Given the description of an element on the screen output the (x, y) to click on. 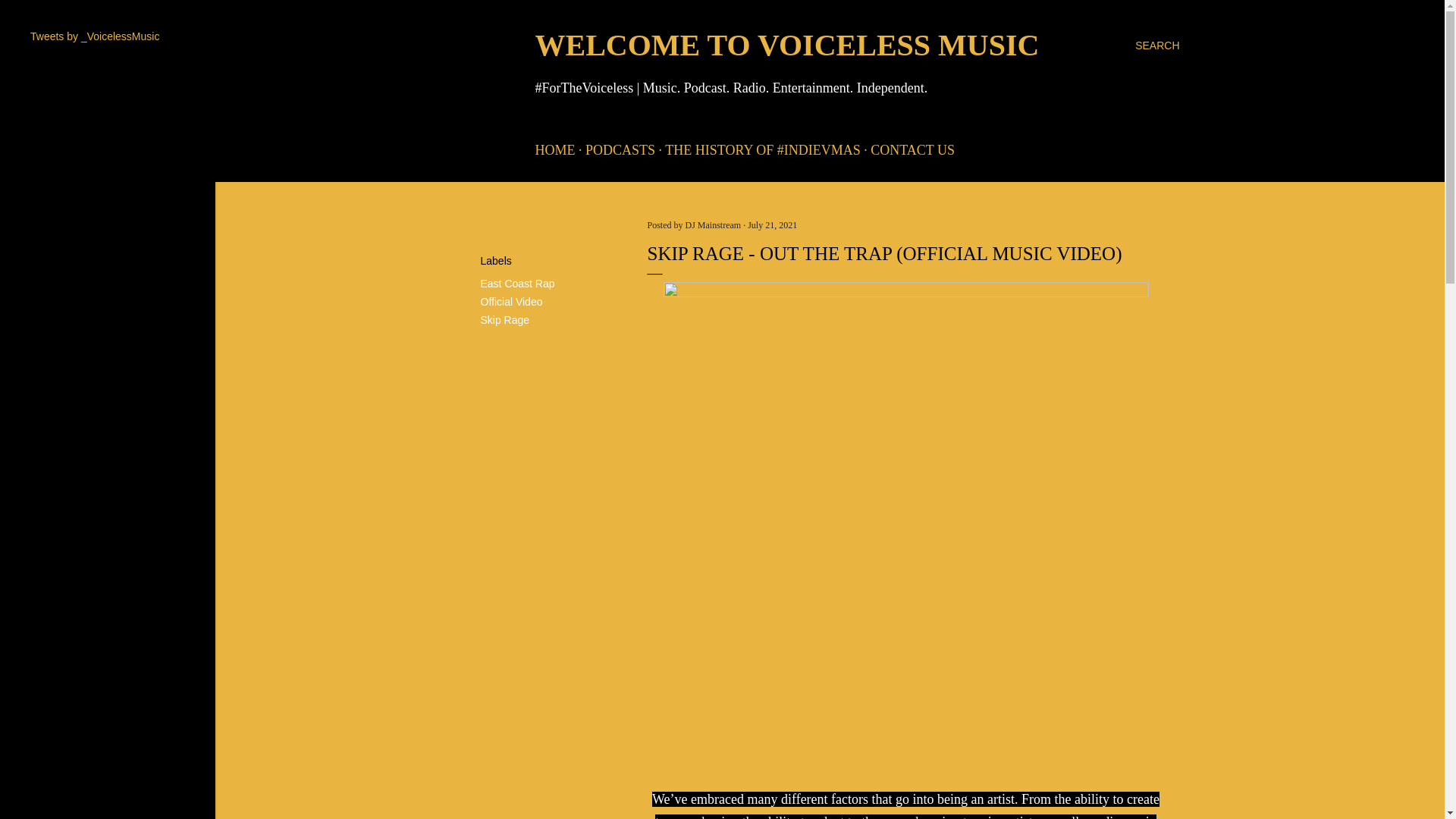
Skip Rage (504, 319)
author profile (714, 225)
HOME (555, 150)
SEARCH (1157, 45)
Official Video (511, 301)
July 21, 2021 (772, 225)
PODCASTS (620, 150)
East Coast Rap (517, 283)
DJ Mainstream (714, 225)
Share (494, 225)
permanent link (772, 225)
CONTACT US (912, 150)
WELCOME TO VOICELESS MUSIC (787, 44)
